Given the description of an element on the screen output the (x, y) to click on. 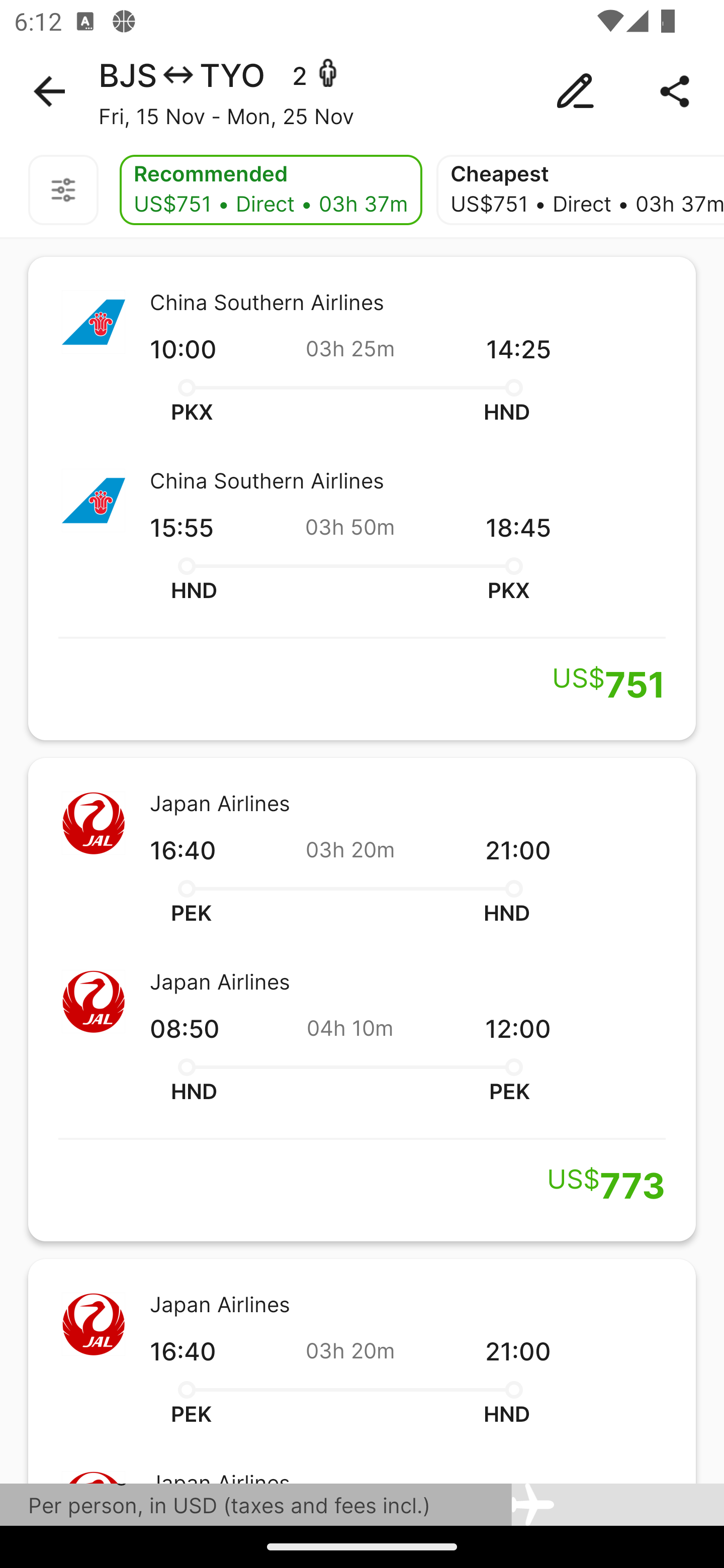
BJS TYO   2 - Fri, 15 Nov - Mon, 25 Nov (361, 91)
Recommended  US$751 • Direct • 03h 37m (270, 190)
Cheapest US$751 • Direct • 03h 37m (580, 190)
